Given the description of an element on the screen output the (x, y) to click on. 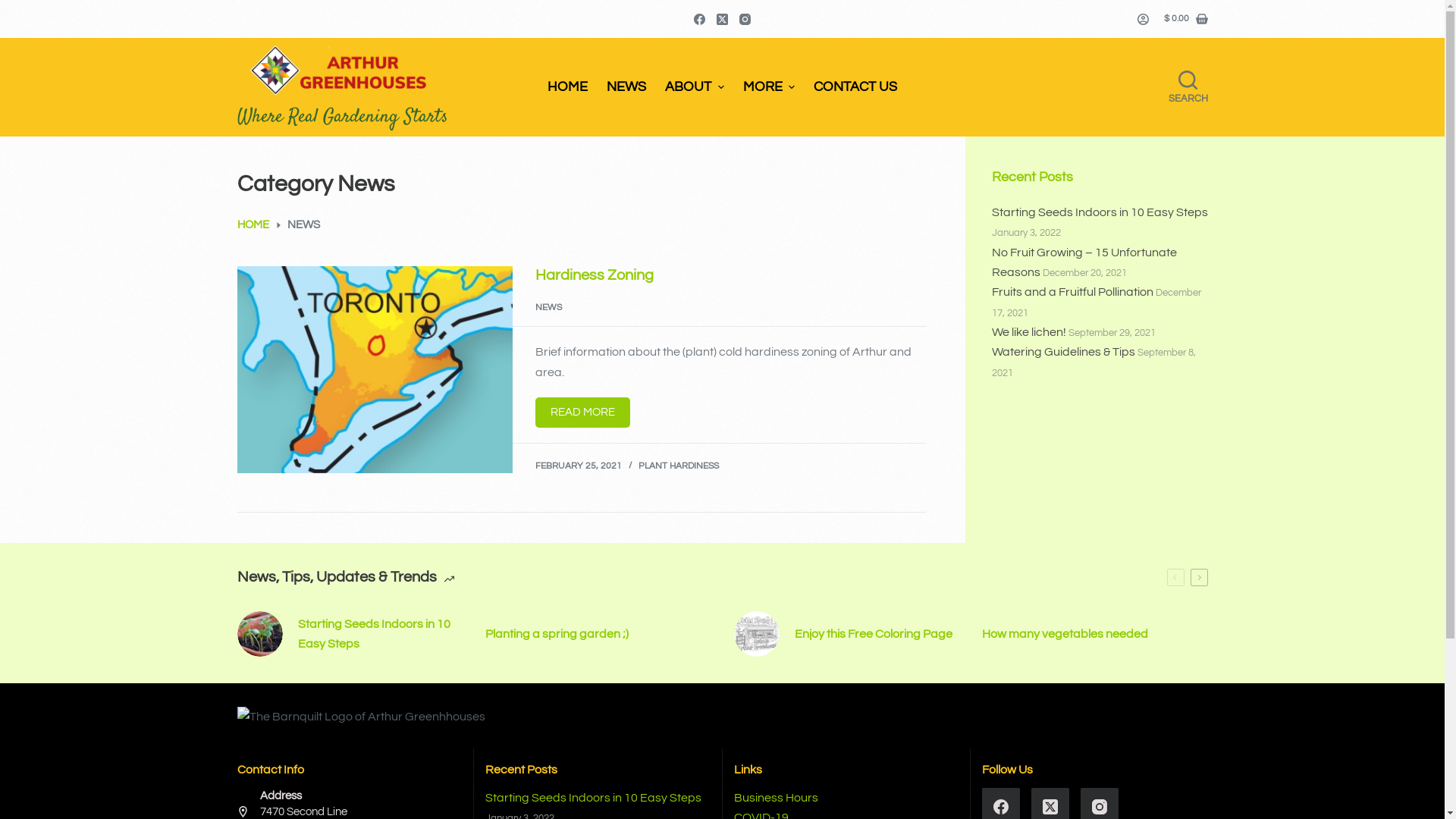
MORE Element type: text (768, 86)
We like lichen! Element type: text (1028, 332)
Hardiness Zoning Element type: text (594, 274)
Watering Guidelines & Tips Element type: text (1063, 351)
How many vegetables needed Element type: text (1095, 633)
PLANT HARDINESS Element type: text (678, 465)
Hardiness Zoning 1 Element type: hover (374, 369)
ABOUT Element type: text (694, 86)
NEWS Element type: text (625, 86)
Starting Seeds Indoors in 10 Easy Steps Element type: text (593, 797)
Planting a spring garden ;) Element type: text (598, 633)
Starting Seeds Indoors in 10 Easy Steps Element type: text (349, 633)
Business Hours Element type: text (776, 797)
CONTACT US Element type: text (855, 86)
NEWS Element type: text (548, 307)
HOME Element type: text (252, 225)
Starting Seeds Indoors in 10 Easy Steps Element type: text (1099, 212)
READ MORE Element type: text (582, 412)
Skip to content Element type: text (15, 7)
$ 0.00 Element type: text (1185, 18)
HOME Element type: text (566, 86)
Fruits and a Fruitful Pollination Element type: text (1072, 291)
SEARCH Element type: text (1187, 87)
Enjoy this Free Coloring Page Element type: text (847, 633)
